Given the description of an element on the screen output the (x, y) to click on. 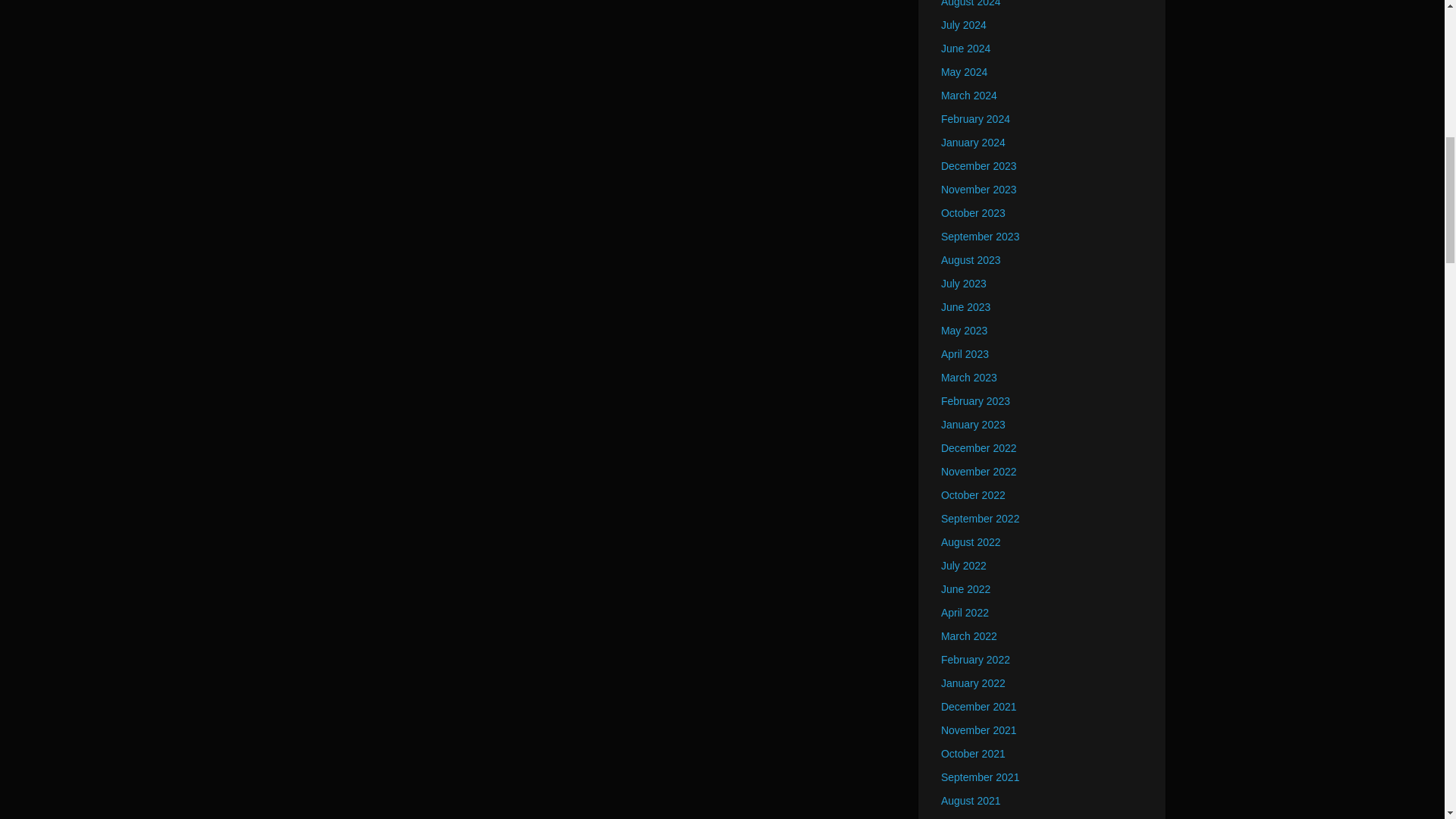
January 2024 (973, 142)
March 2024 (968, 95)
December 2023 (978, 165)
November 2023 (978, 189)
May 2024 (963, 71)
July 2024 (963, 24)
August 2024 (970, 3)
February 2024 (975, 119)
June 2024 (965, 48)
October 2023 (973, 213)
